Given the description of an element on the screen output the (x, y) to click on. 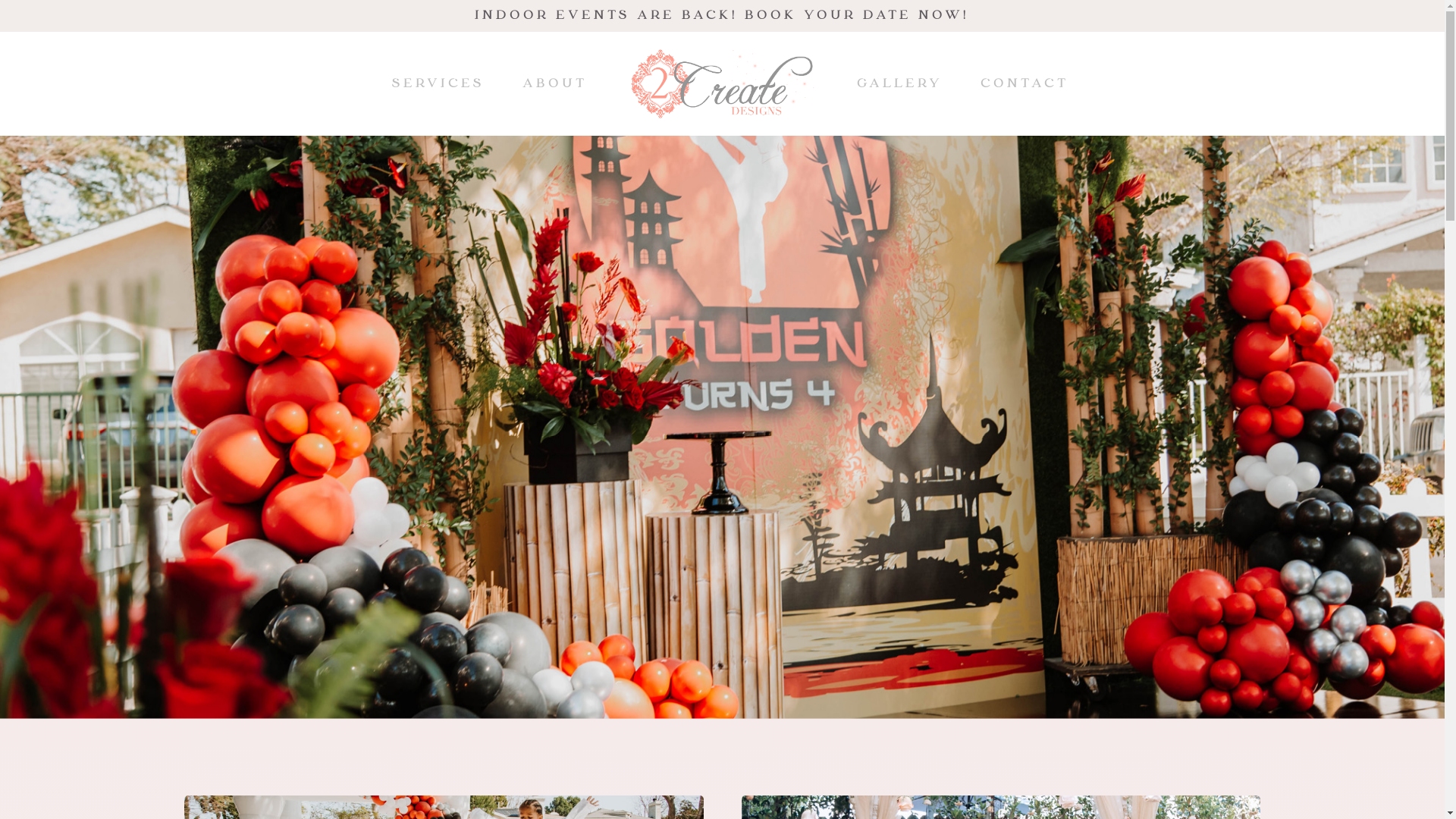
GALLERY Element type: text (899, 83)
ABOUT Element type: text (554, 83)
INDOOR EVENTS ARE BACK! BOOK YOUR DATE NOW! Element type: text (721, 15)
SERVICES Element type: text (438, 83)
CONTACT Element type: text (1024, 83)
